Given the description of an element on the screen output the (x, y) to click on. 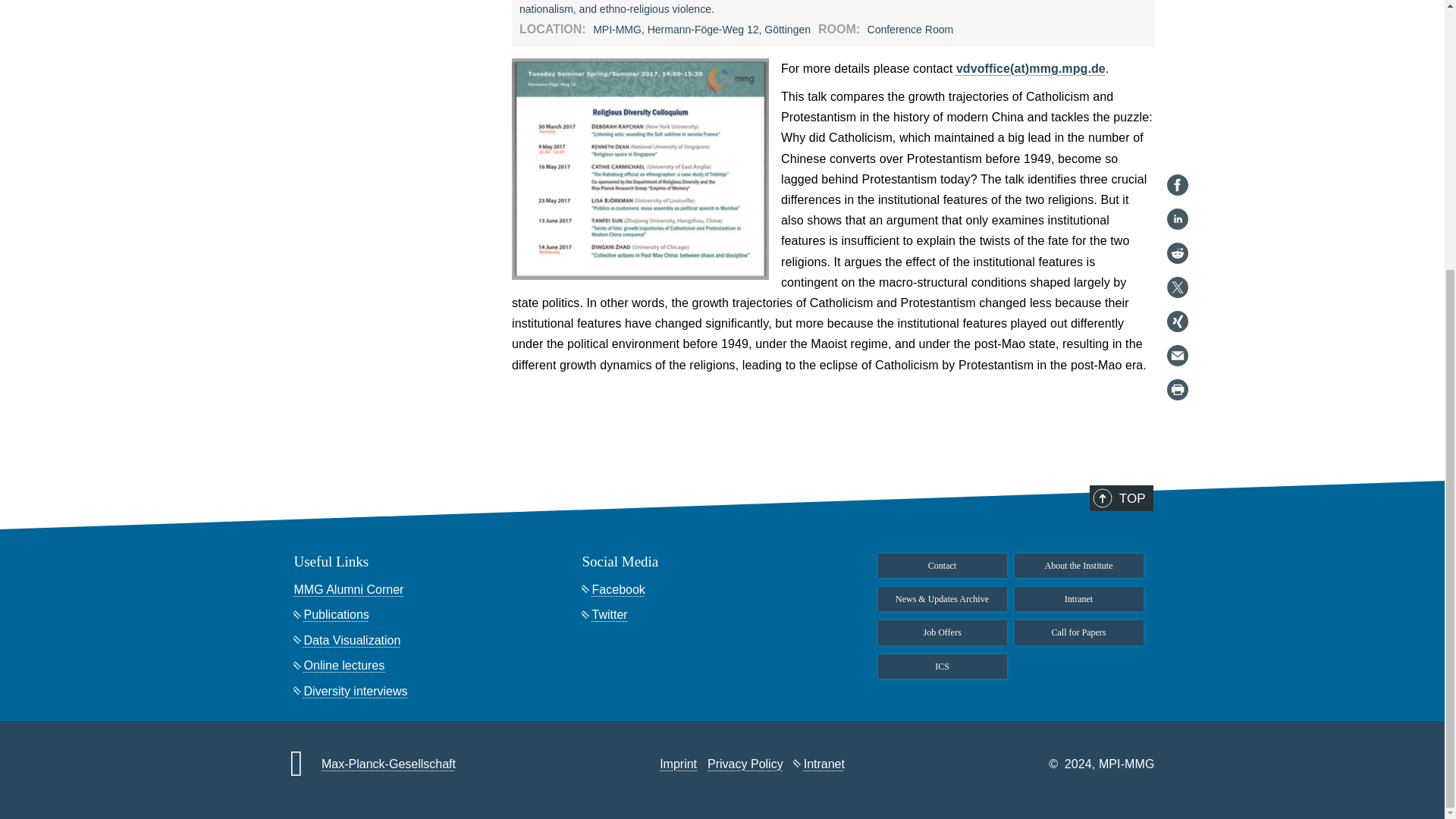
Print (1177, 3)
